Given the description of an element on the screen output the (x, y) to click on. 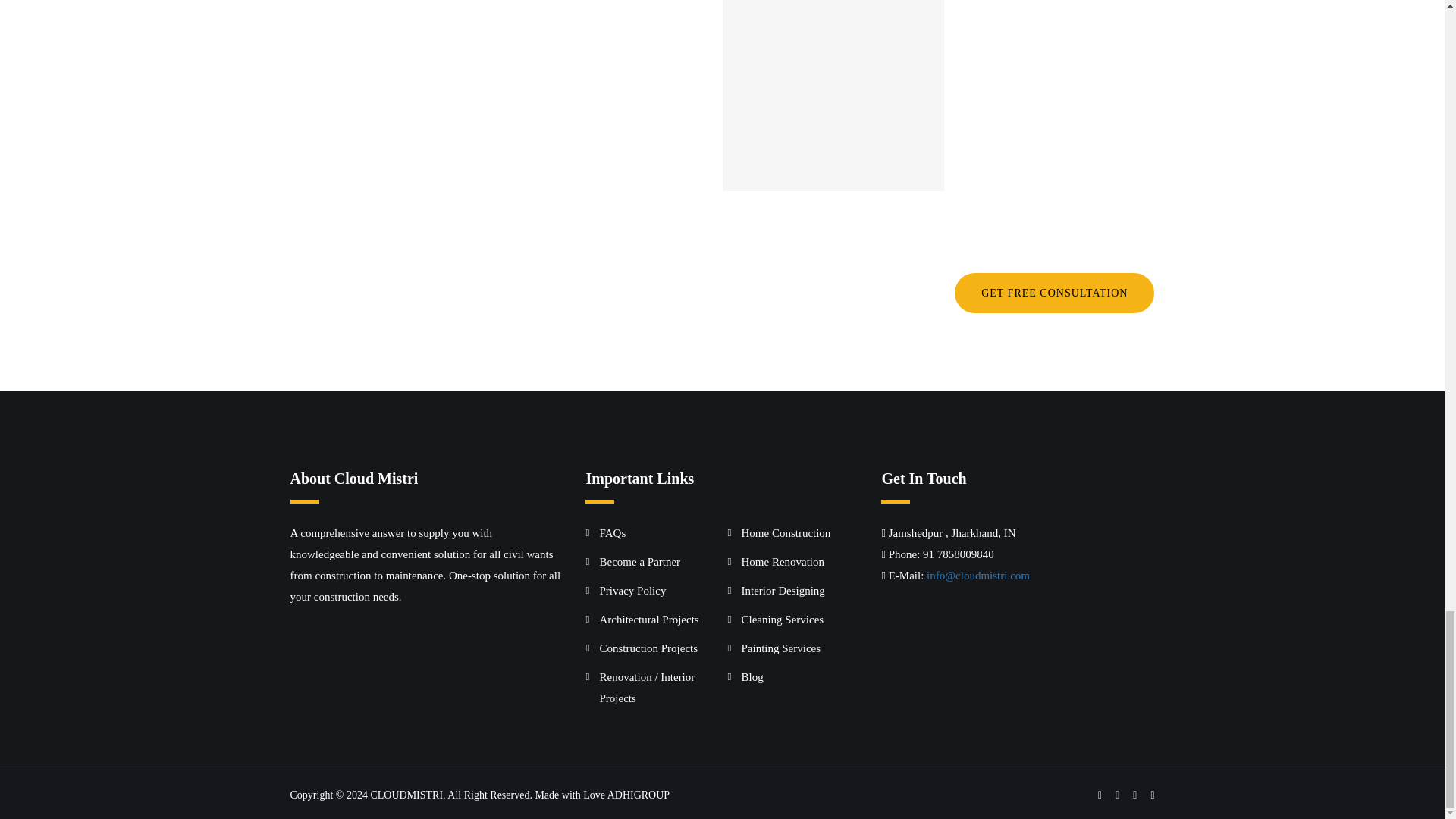
Home Construction (785, 532)
FAQs (612, 532)
GET FREE CONSULTATION (1054, 292)
Become a Partner (638, 562)
